Given the description of an element on the screen output the (x, y) to click on. 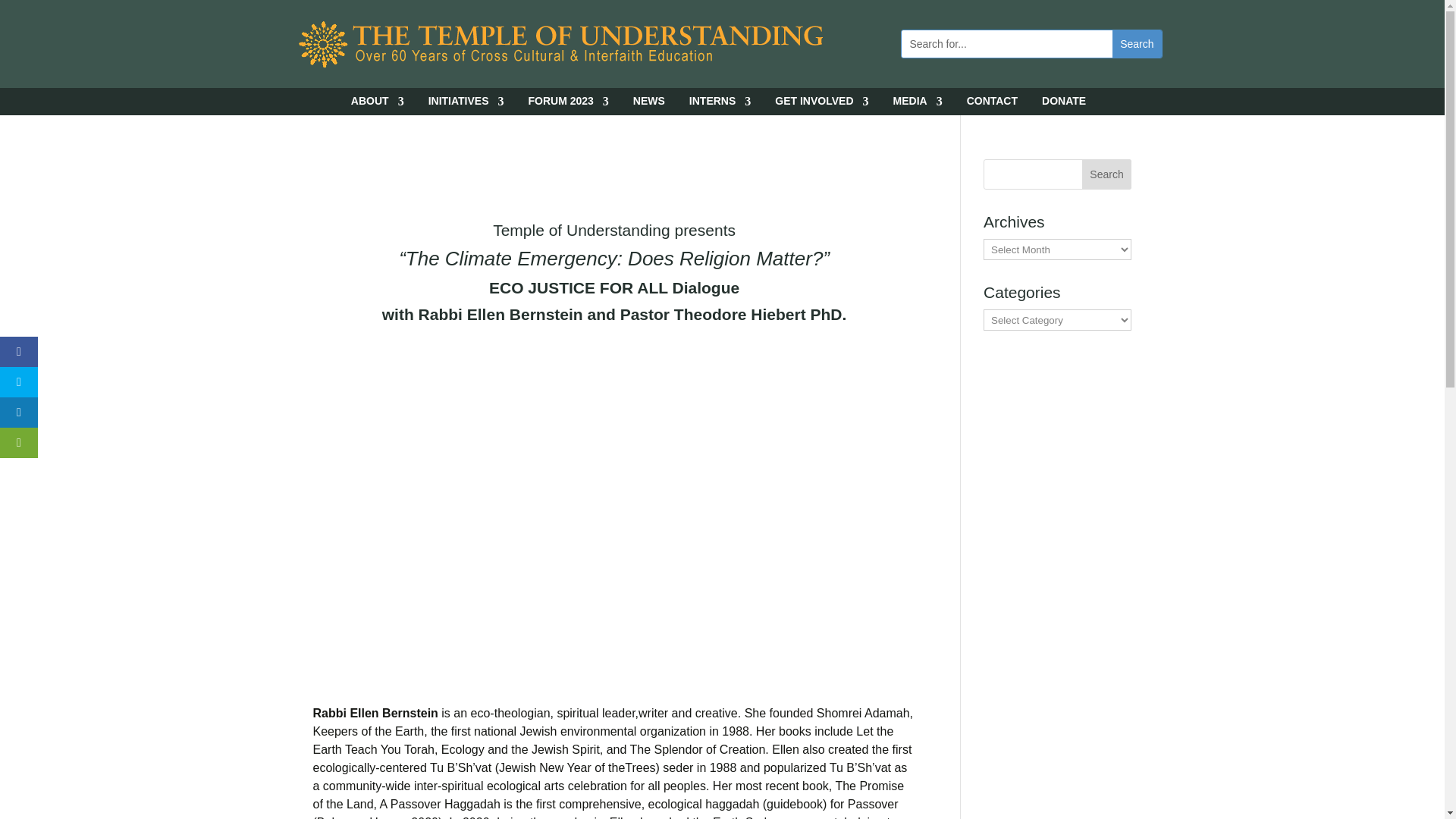
GET INVOLVED (820, 104)
CONTACT (991, 104)
MEDIA (917, 104)
ABOUT (377, 104)
INITIATIVES (465, 104)
Search (1136, 43)
Search (1136, 43)
Search (1106, 173)
INTERNS (719, 104)
NEWS (649, 104)
